Given the description of an element on the screen output the (x, y) to click on. 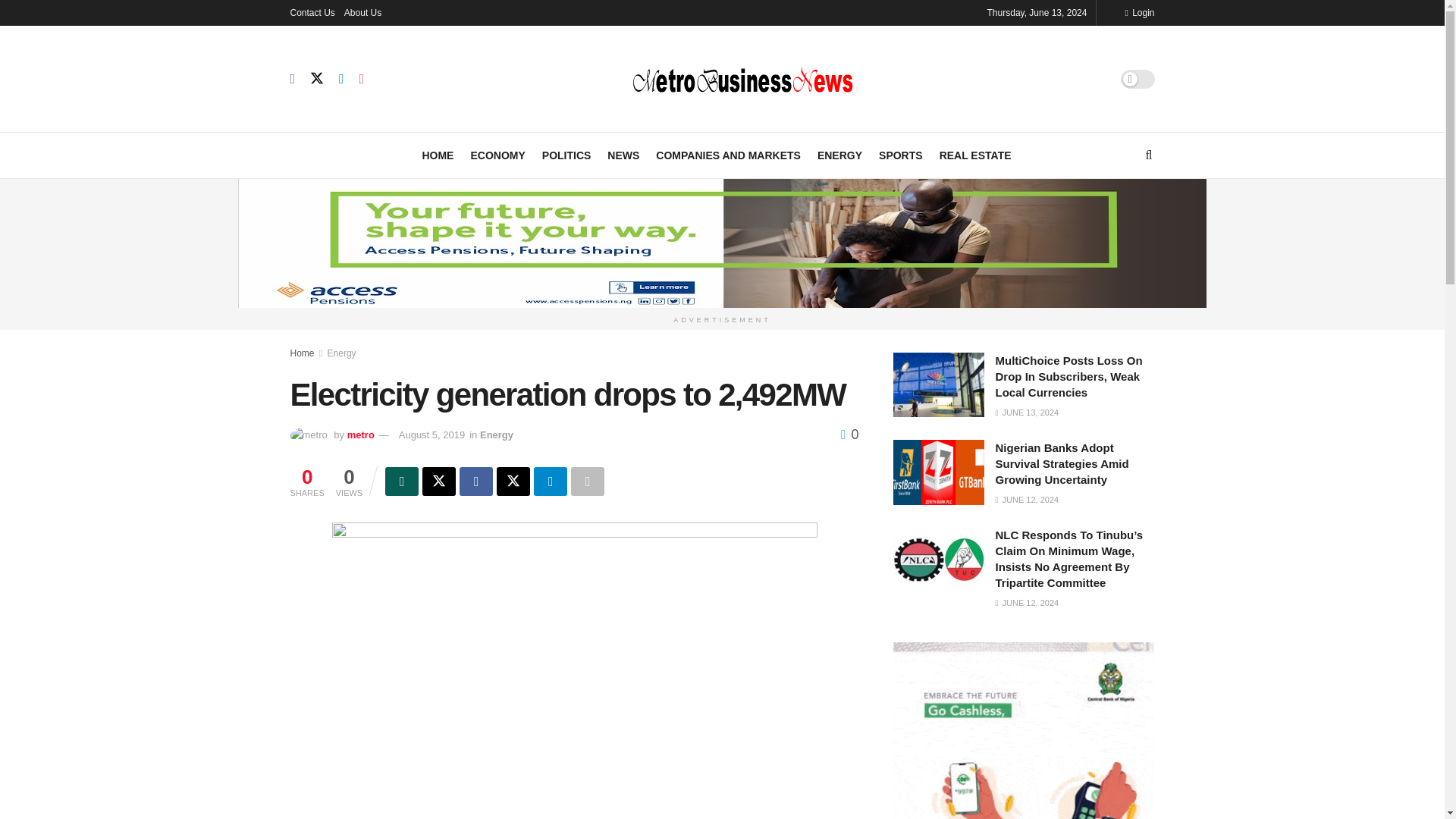
ECONOMY (497, 155)
Energy (496, 434)
REAL ESTATE (975, 155)
metro (360, 434)
Energy (341, 352)
SPORTS (901, 155)
NEWS (623, 155)
About Us (362, 12)
Home (301, 352)
COMPANIES AND MARKETS (728, 155)
Contact Us (311, 12)
HOME (437, 155)
Login (1139, 12)
ENERGY (838, 155)
August 5, 2019 (431, 434)
